Given the description of an element on the screen output the (x, y) to click on. 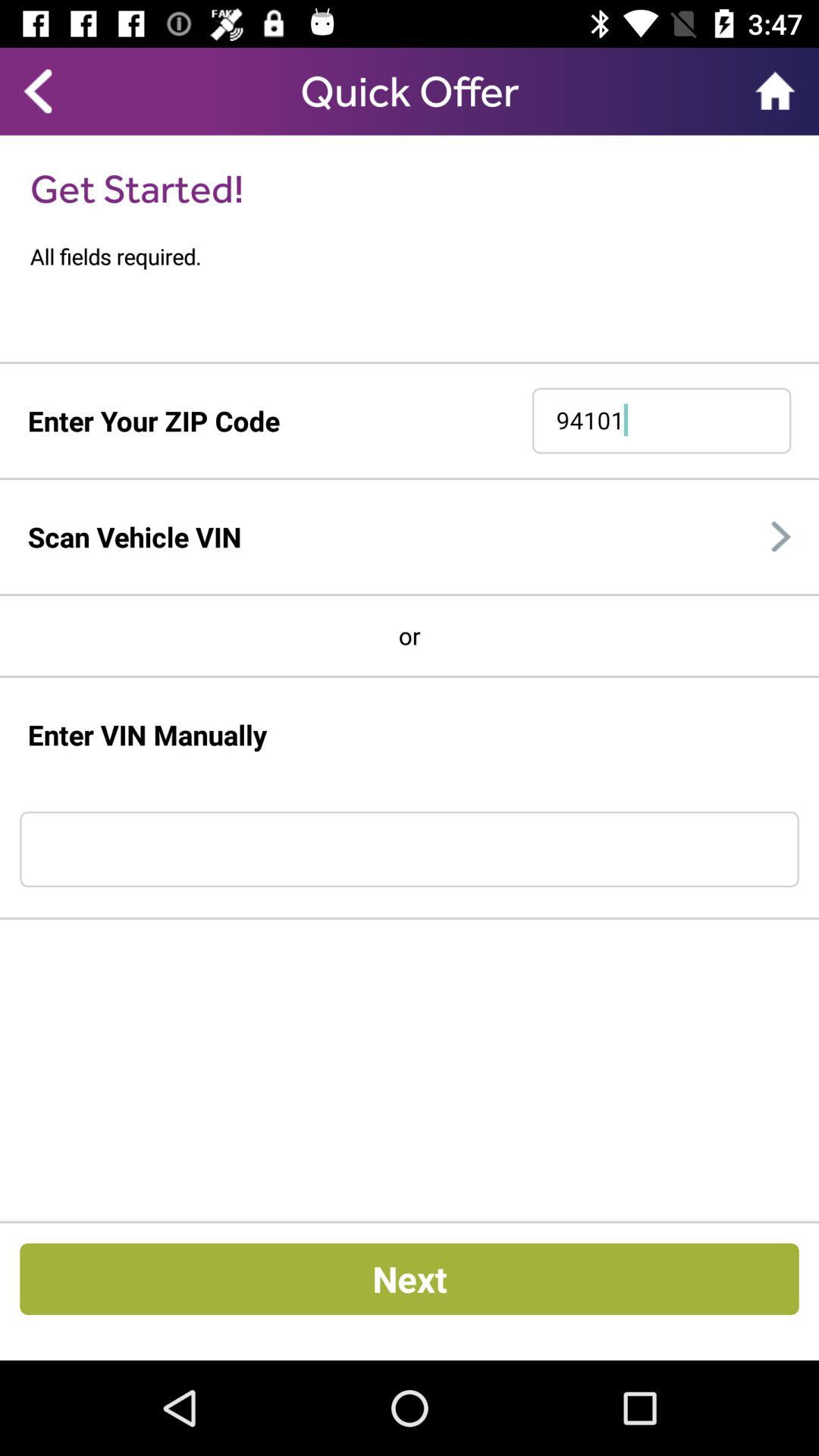
select item to the left of the quick offer icon (37, 91)
